Given the description of an element on the screen output the (x, y) to click on. 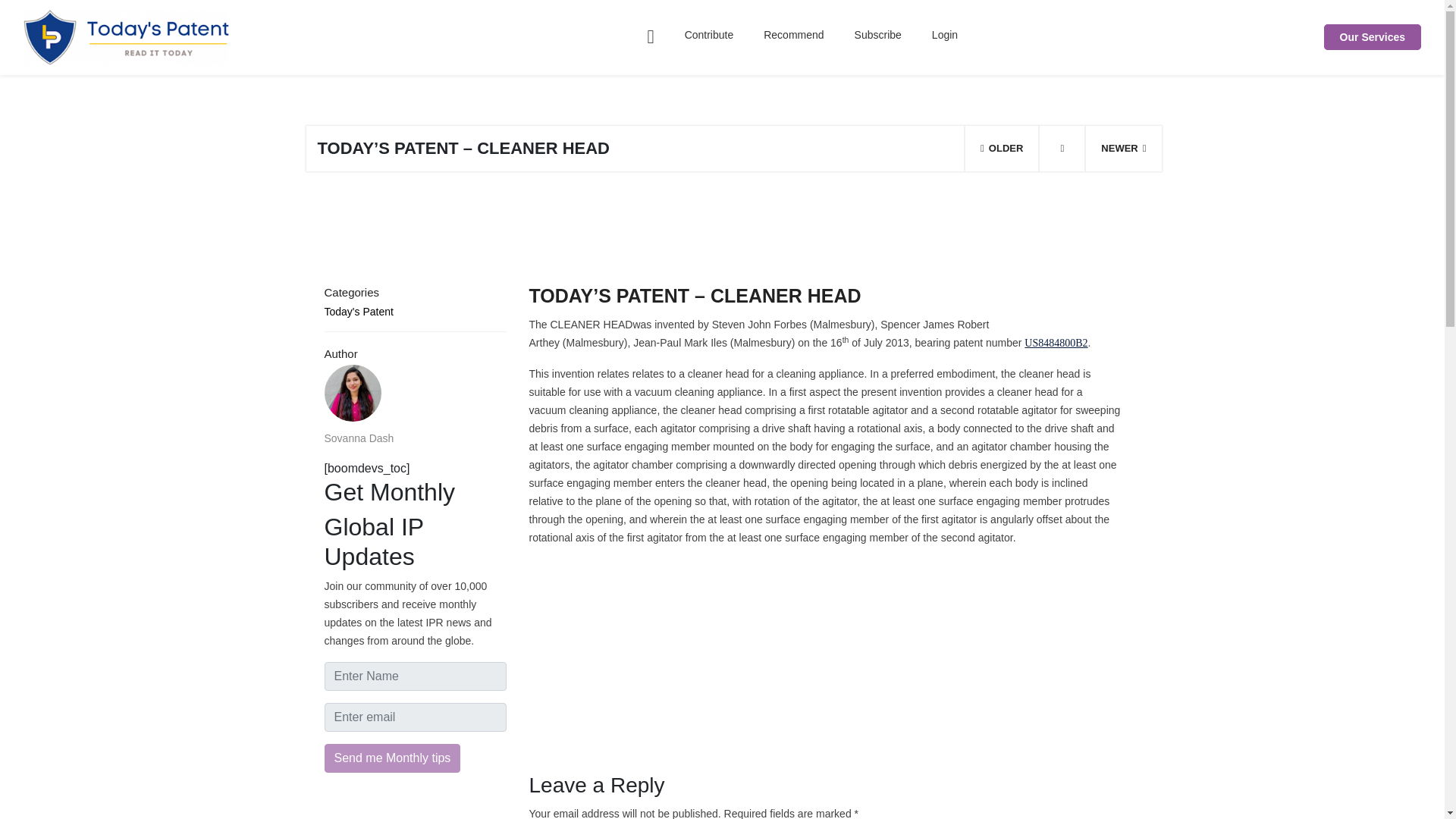
NEWER (1122, 148)
Send me Monthly tips (392, 758)
US8484800B2 (1056, 342)
Contribute (709, 35)
Contribute (709, 35)
Subscribe (878, 35)
Today's Patent (415, 311)
Recommend (793, 35)
Our Services (1372, 36)
Login (944, 35)
Send me Monthly tips (392, 758)
Login (944, 35)
Subscribe (878, 35)
Recommend (793, 35)
OLDER (1000, 148)
